Given the description of an element on the screen output the (x, y) to click on. 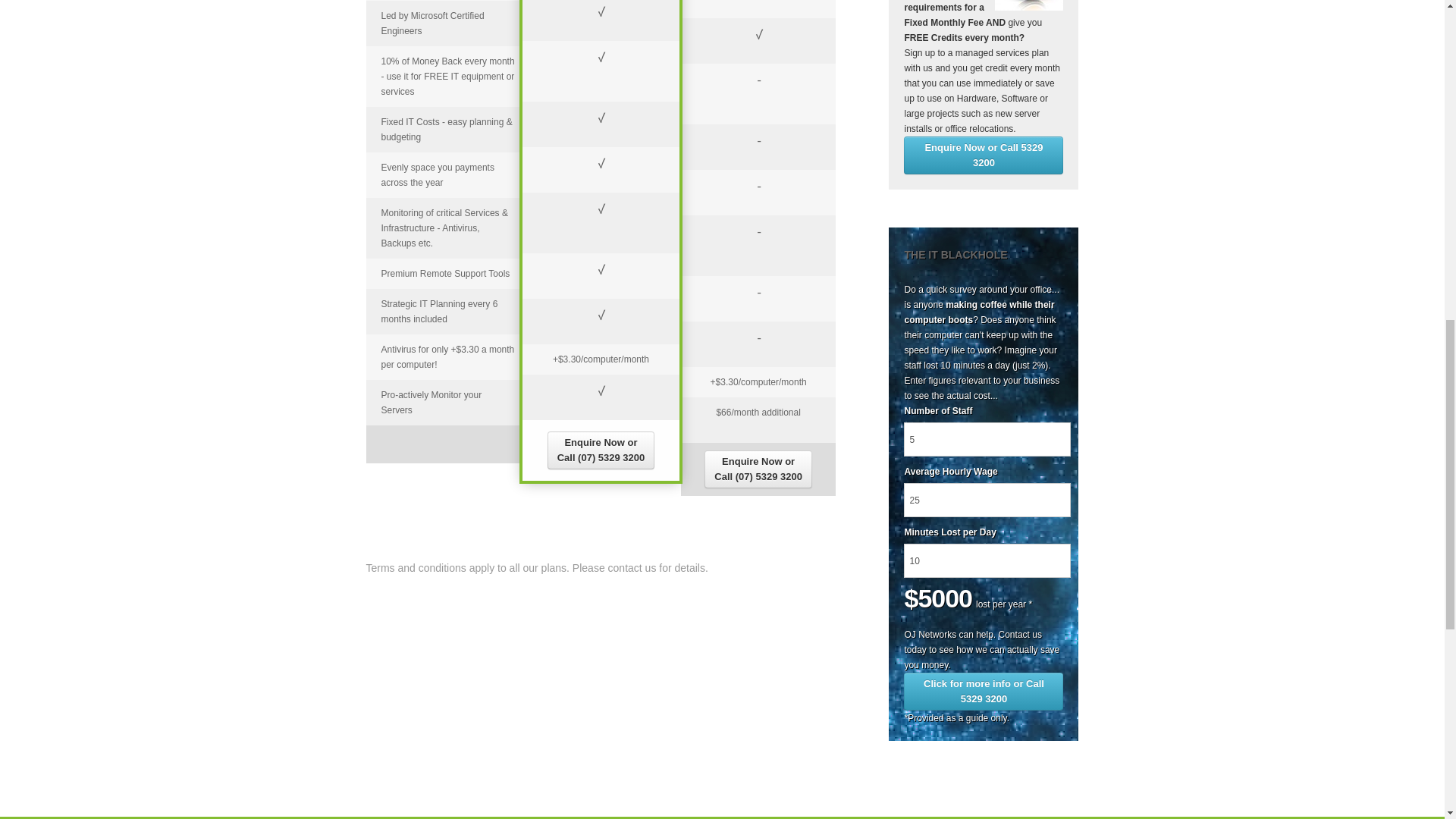
10 (987, 560)
5 (987, 439)
25 (987, 499)
